Given the description of an element on the screen output the (x, y) to click on. 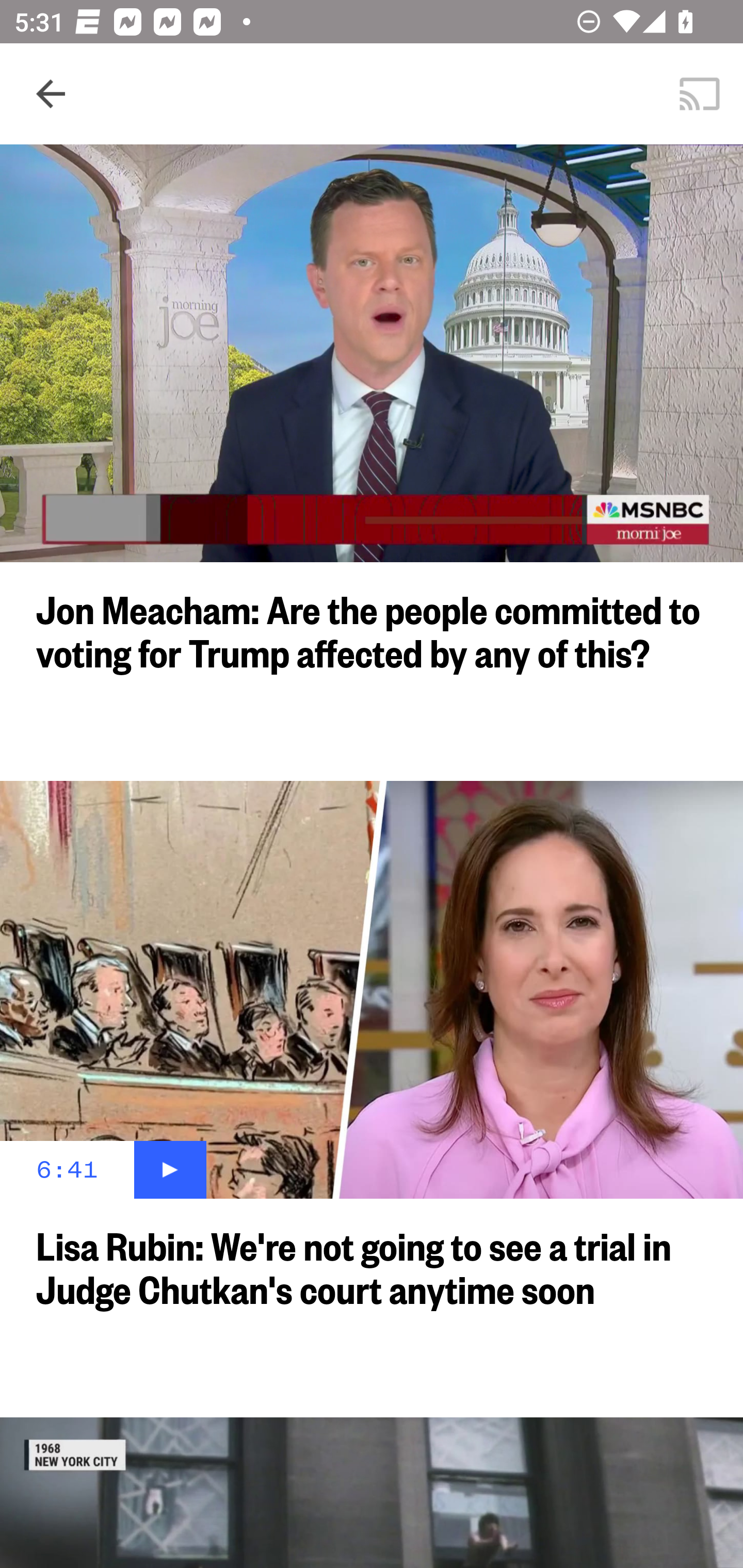
Navigate up (50, 93)
Cast. Disconnected (699, 93)
